Given the description of an element on the screen output the (x, y) to click on. 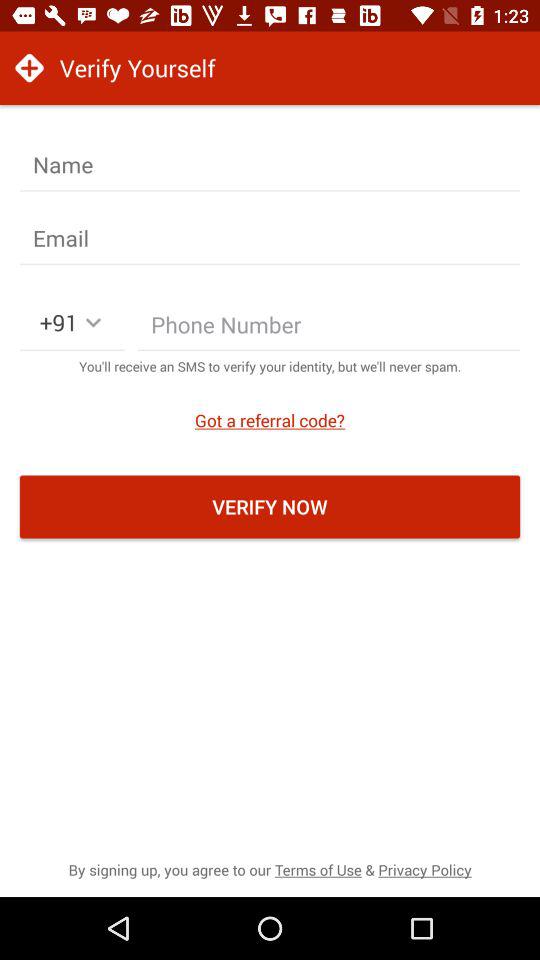
jump until by signing up (270, 869)
